Given the description of an element on the screen output the (x, y) to click on. 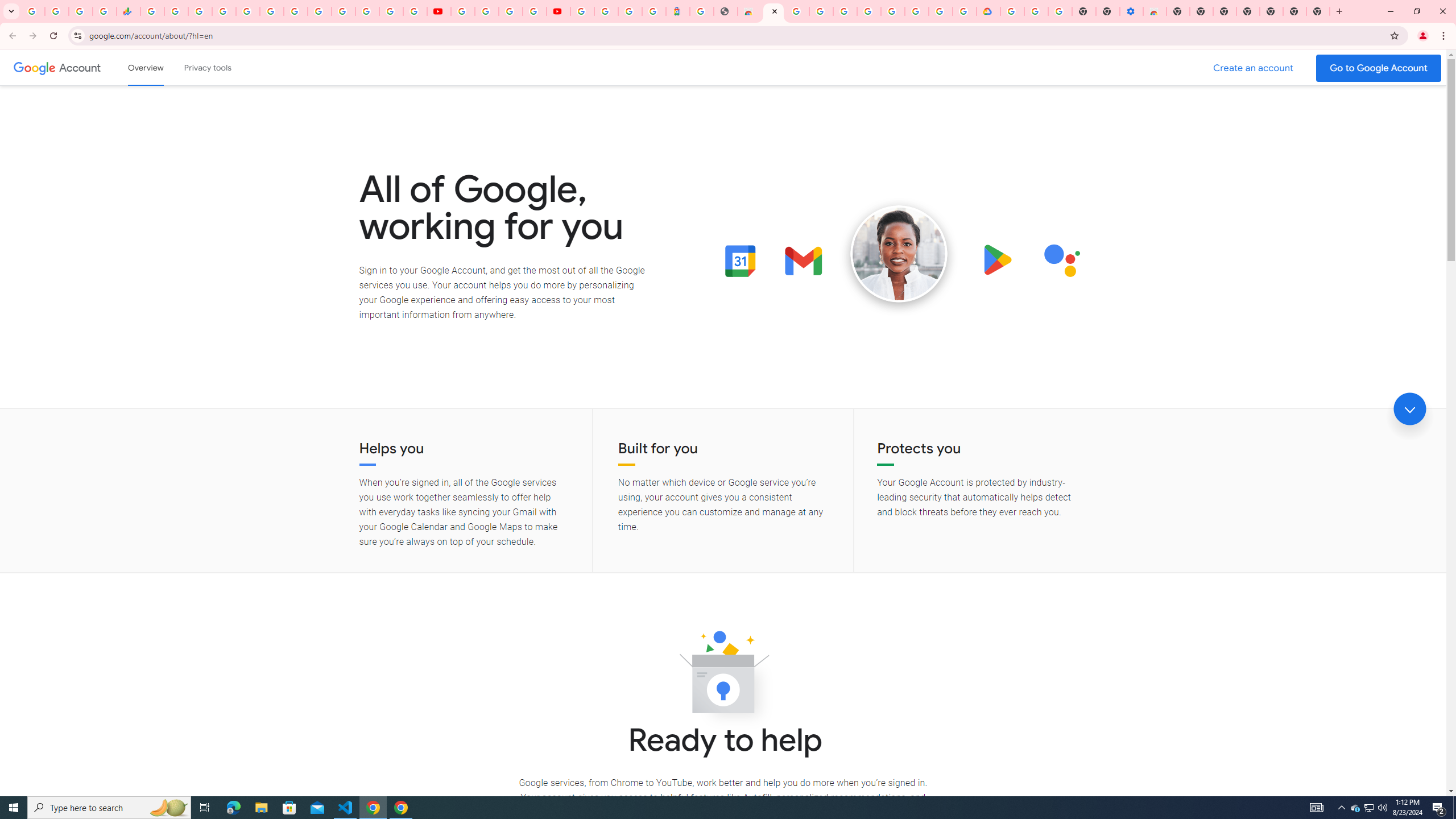
Sign in - Google Accounts (940, 11)
Skip to Content (162, 65)
Atour Hotel - Google hotels (677, 11)
Ad Settings (820, 11)
Sign in - Google Accounts (581, 11)
Google Account Help (486, 11)
